Given the description of an element on the screen output the (x, y) to click on. 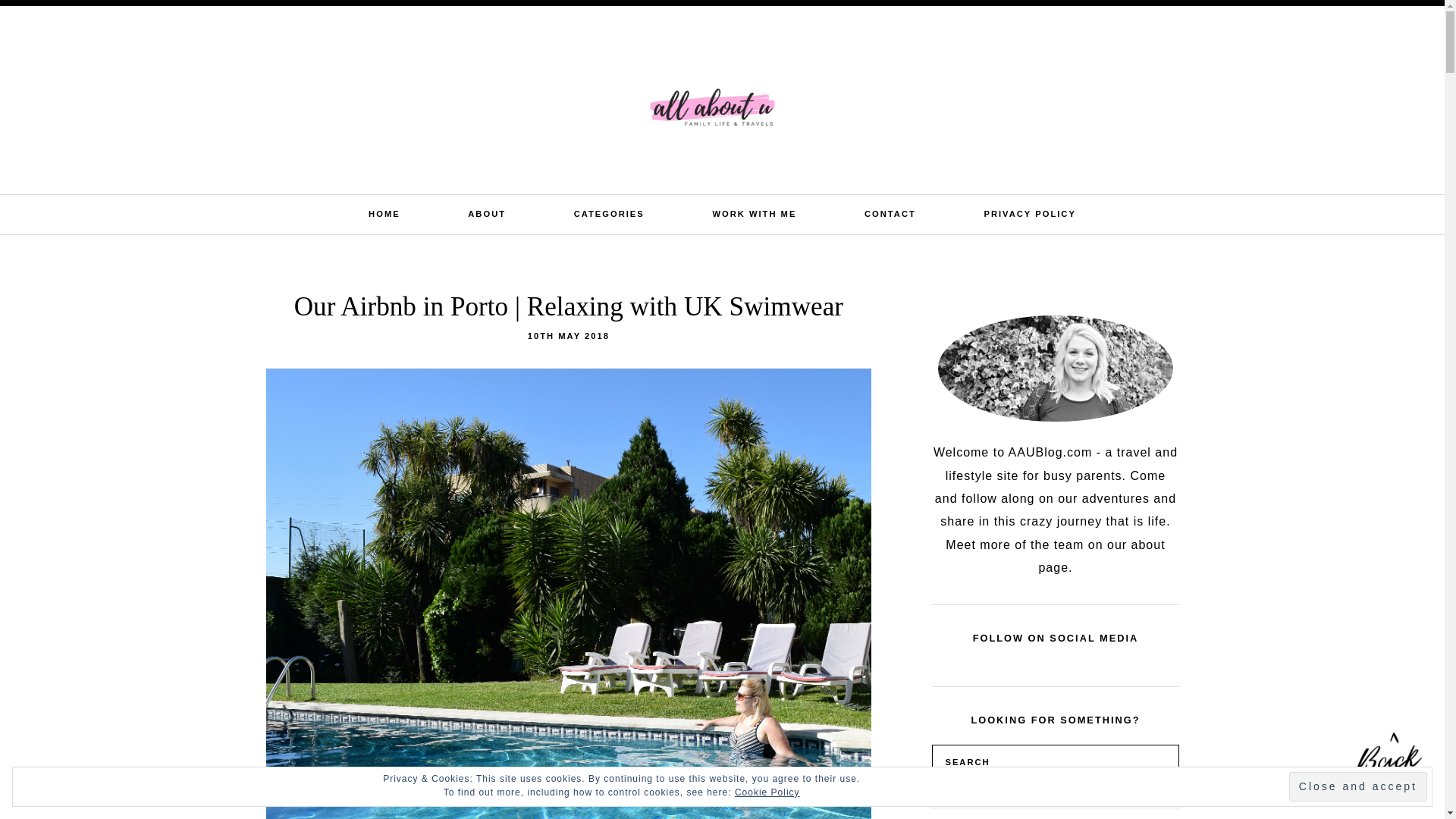
ABOUT (486, 214)
CATEGORIES (609, 214)
WORK WITH ME (753, 214)
PRIVACY POLICY (1029, 214)
Close and accept (1357, 786)
Search for: (1319, 23)
CONTACT (889, 214)
